Given the description of an element on the screen output the (x, y) to click on. 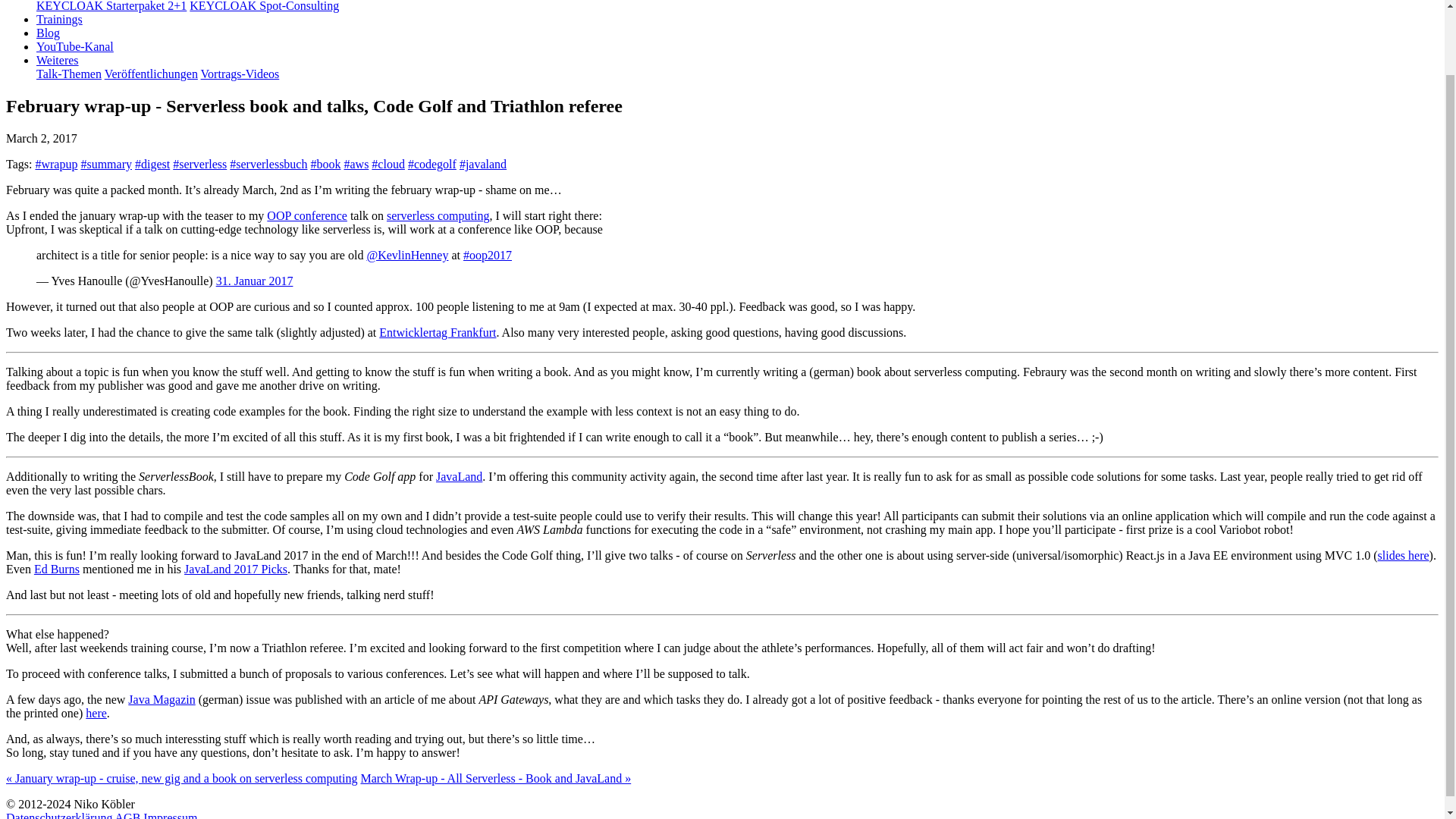
YouTube-Kanal (74, 46)
JavaLand (458, 476)
Ed Burns (56, 568)
Entwicklertag Frankfurt (437, 332)
31. Januar 2017 (254, 280)
KEYCLOAK Spot-Consulting (264, 6)
OOP conference (306, 215)
Weiteres (57, 60)
JavaLand 2017 Picks (235, 568)
Vortrags-Videos (239, 73)
Talk-Themen (68, 73)
serverless computing (438, 215)
Java Magazin (161, 698)
here (95, 712)
Trainings (59, 19)
